Given the description of an element on the screen output the (x, y) to click on. 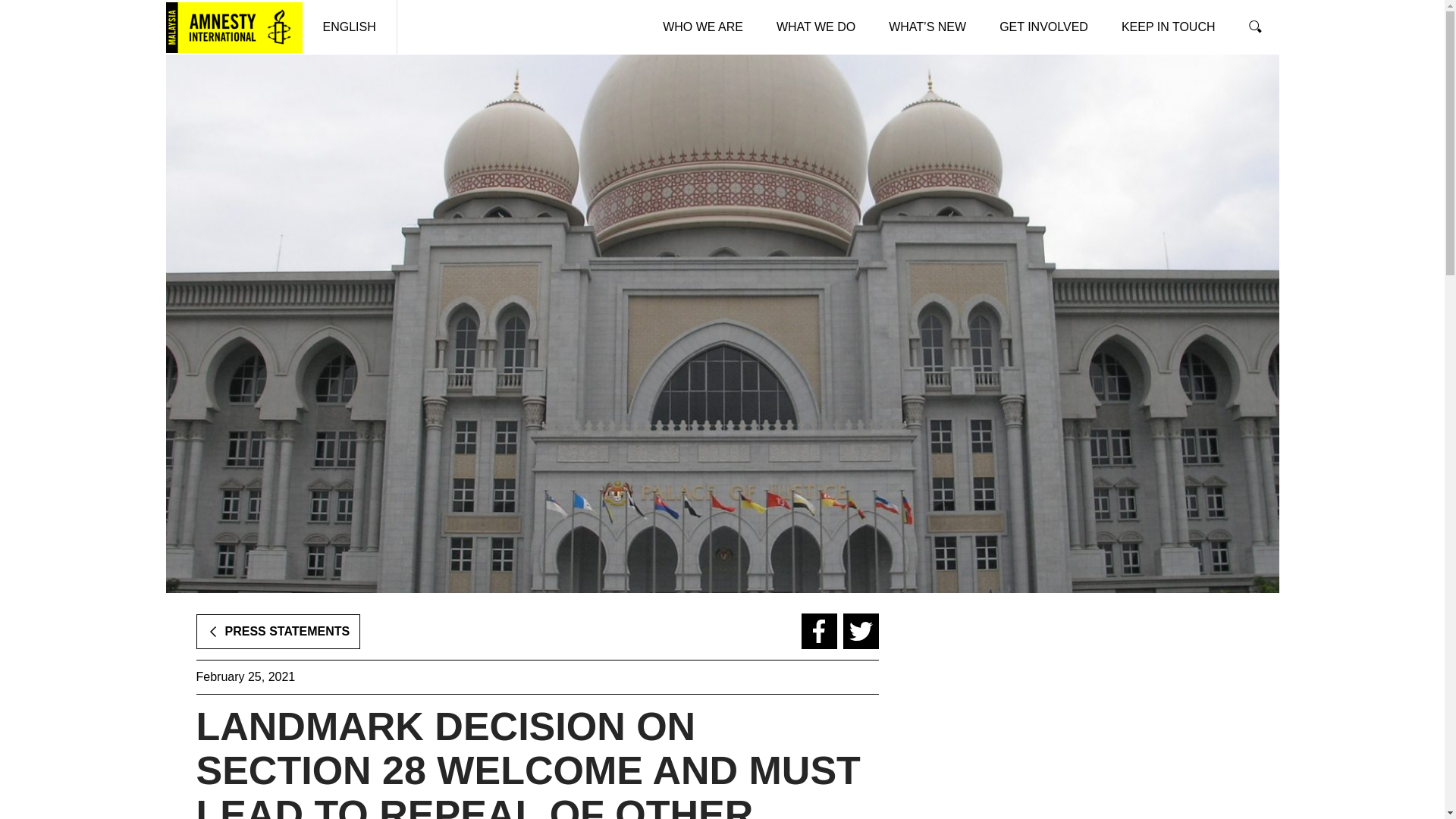
GET INVOLVED (1043, 27)
KEEP IN TOUCH (1168, 27)
WHO WE ARE (703, 27)
WHAT WE DO (816, 27)
SEARCH (1254, 27)
